Given the description of an element on the screen output the (x, y) to click on. 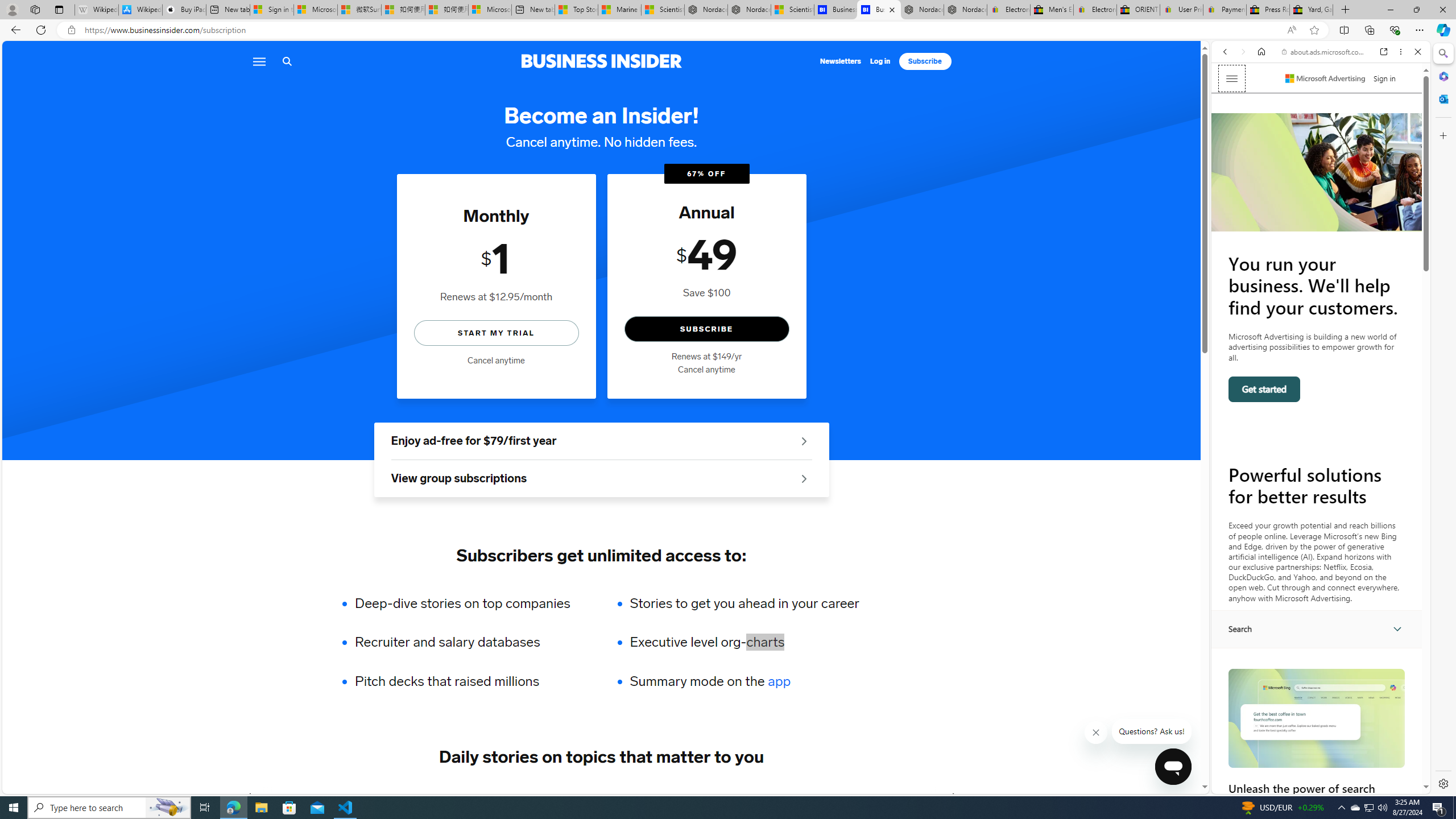
Summary mode on the app (743, 681)
AutomationID: search (1316, 628)
FINANCE (485, 796)
View group subscriptions See group offers (601, 478)
Cancel anytime (706, 369)
HEALTHCARE (680, 796)
Log in (880, 61)
Menu icon (257, 61)
Deep-dive stories on top companies (470, 602)
